Given the description of an element on the screen output the (x, y) to click on. 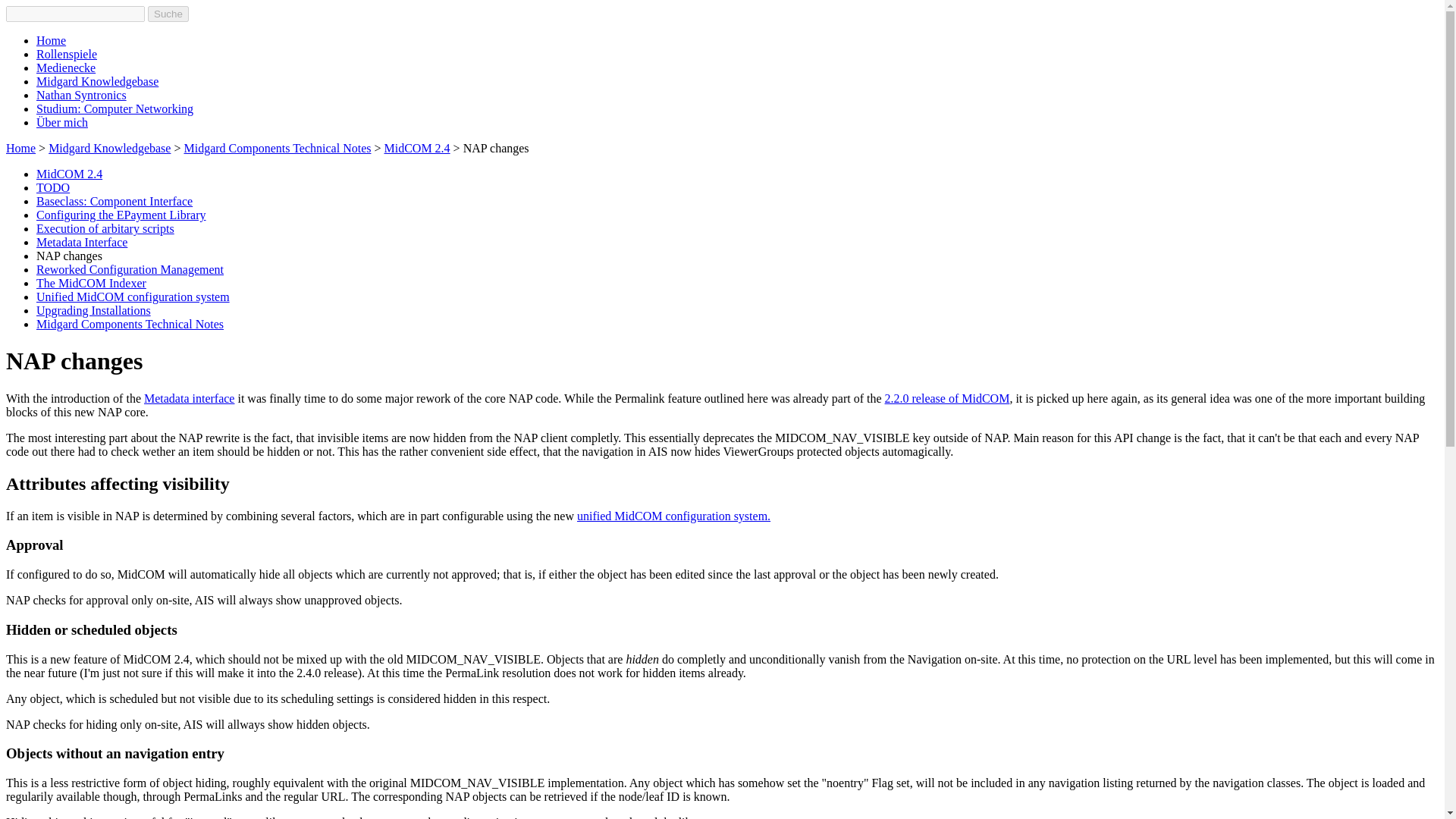
Metadata interface (189, 398)
MidCOM 2.4 (68, 173)
Home (50, 40)
unified MidCOM configuration system. (673, 515)
MidCOM 2.4 (416, 147)
Execution of arbitary scripts (105, 228)
The MidCOM Indexer (91, 282)
Home (19, 147)
Unified MidCOM configuration system (133, 296)
Studium: Computer Networking (114, 108)
Midgard Components Technical Notes (277, 147)
Suche (168, 13)
2.2.0 release of MidCOM (947, 398)
Reworked Configuration Management (130, 269)
Configuring the EPayment Library (121, 214)
